Given the description of an element on the screen output the (x, y) to click on. 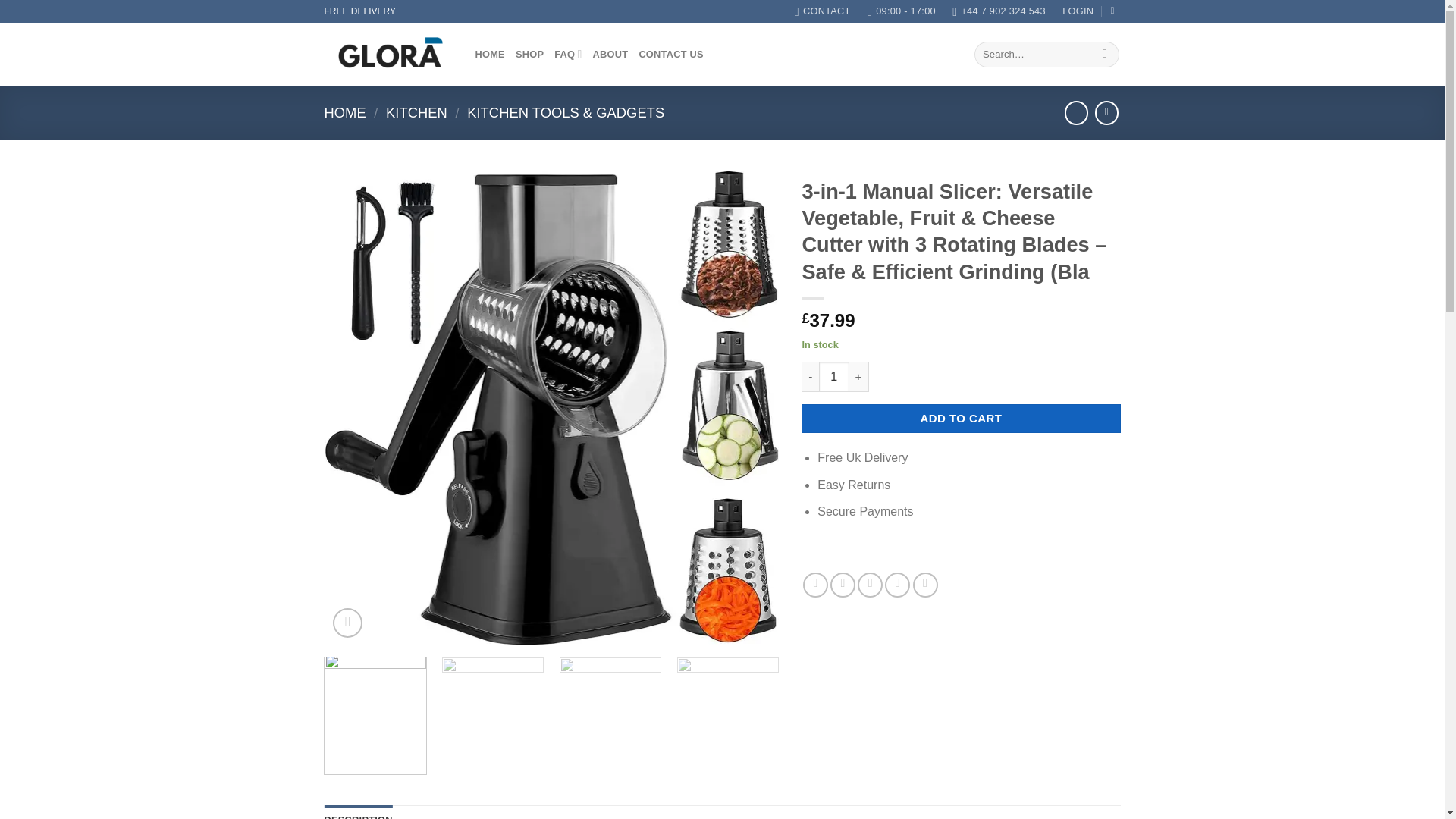
HOME (488, 54)
09:00 - 17:00  (901, 11)
HOME (345, 112)
Glora (388, 54)
Search (1105, 54)
FAQ (567, 54)
1 (833, 376)
SHOP (529, 54)
ABOUT (610, 54)
CONTACT US (671, 54)
KITCHEN (415, 112)
LOGIN (1077, 11)
09:00 - 17:00 (901, 11)
CONTACT (822, 11)
